Given the description of an element on the screen output the (x, y) to click on. 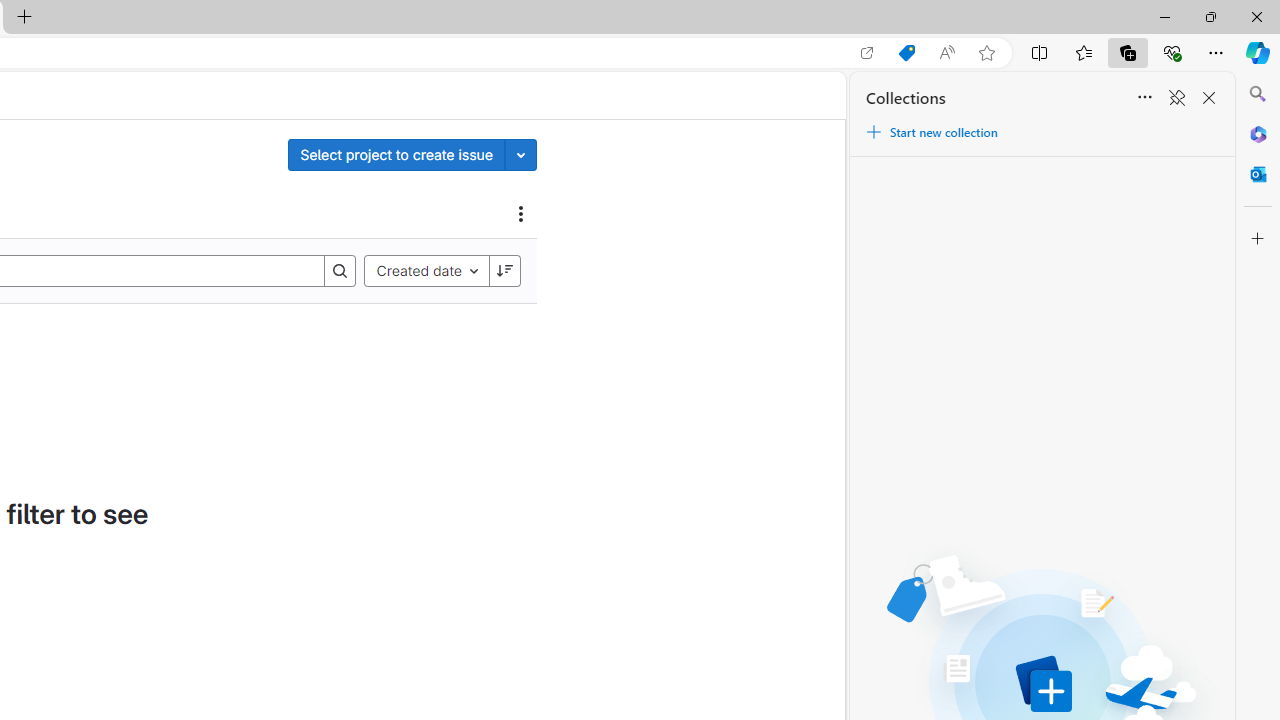
Unpin Collections (1176, 98)
Shopping in Microsoft Edge (906, 53)
Toggle project select (521, 154)
Open in app (867, 53)
Sort (1144, 98)
Sort direction: Descending (504, 270)
